Given the description of an element on the screen output the (x, y) to click on. 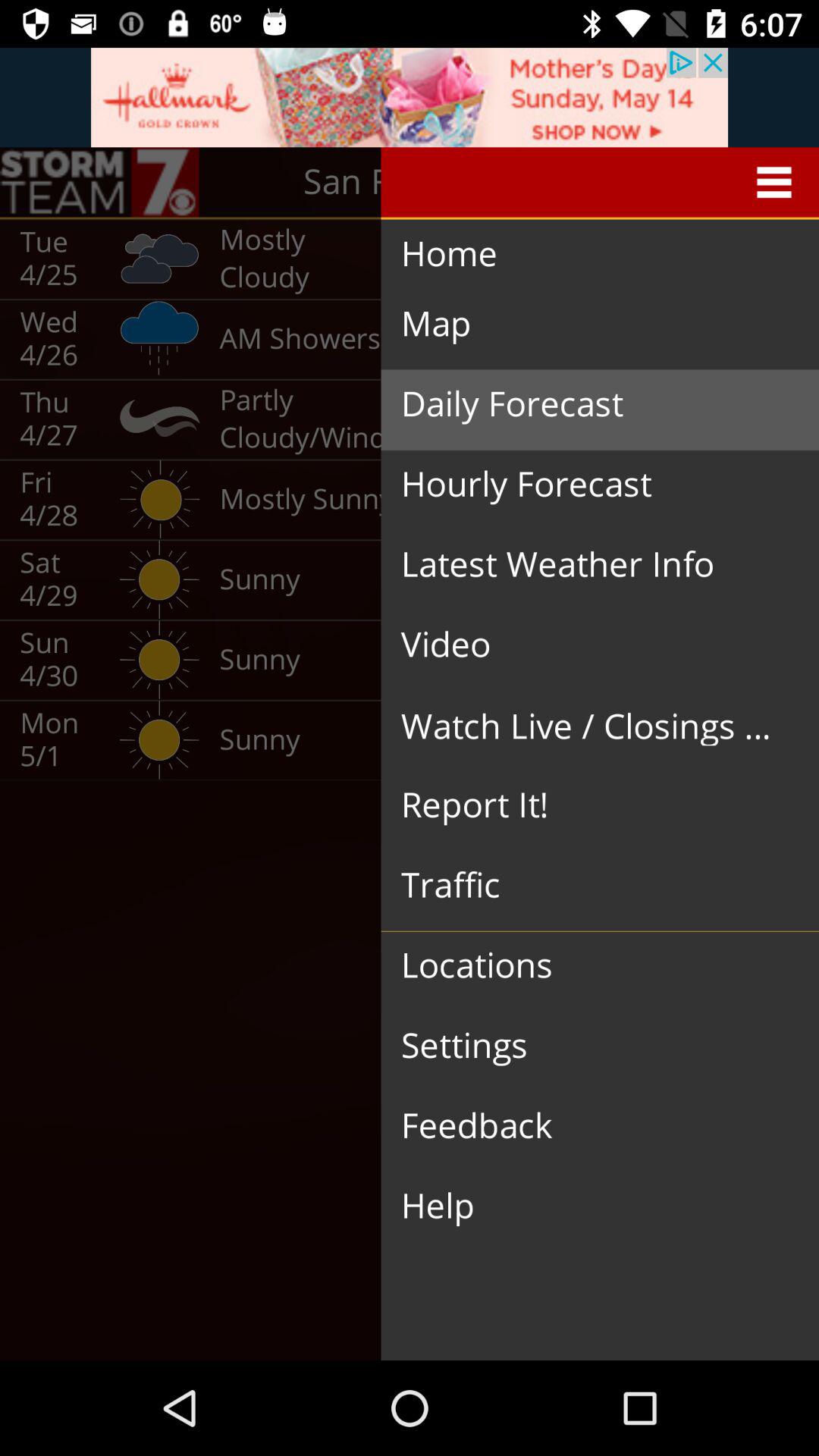
select the hourly forecast (587, 484)
